Given the description of an element on the screen output the (x, y) to click on. 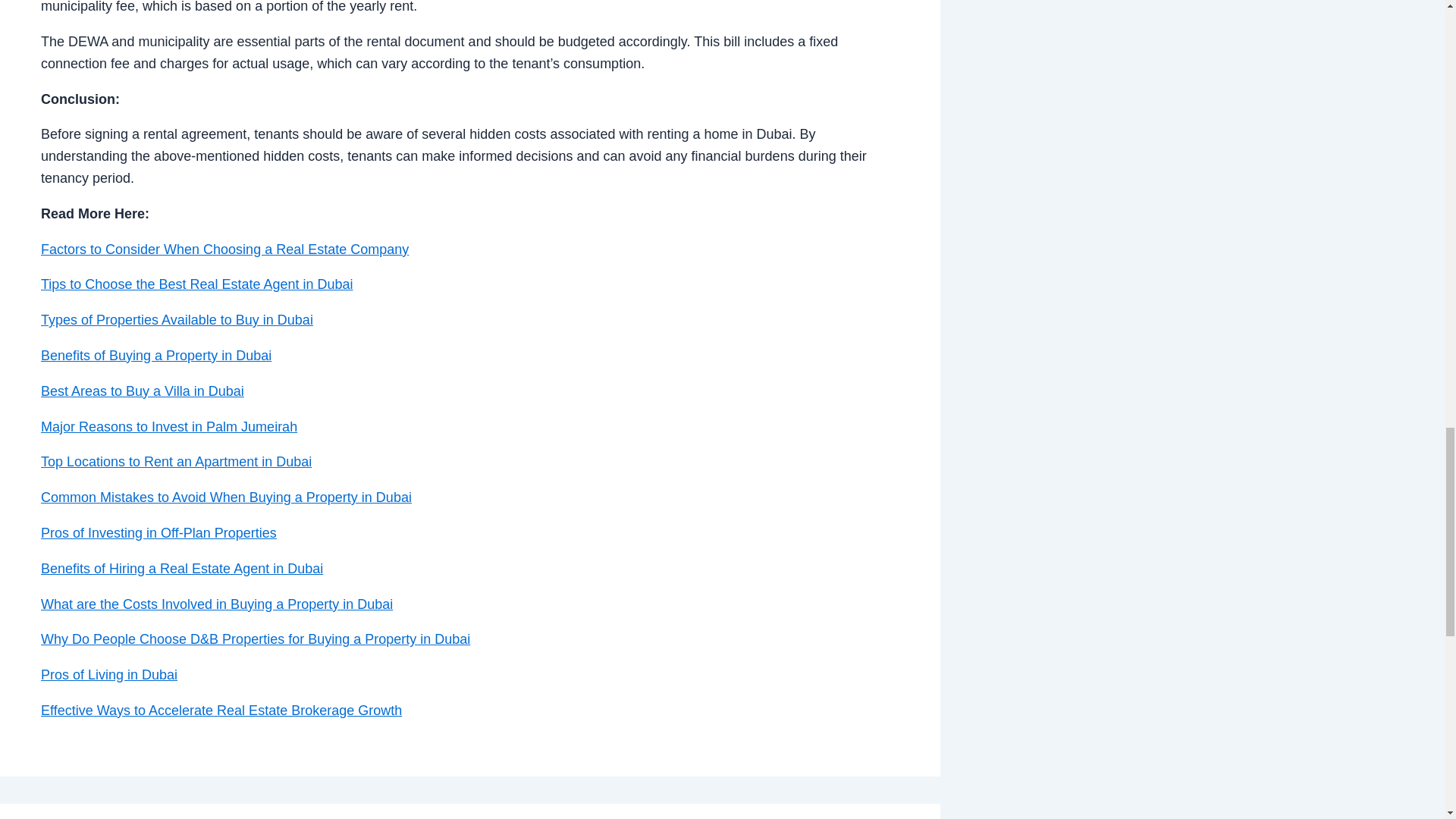
Benefits of Buying a Property in Dubai (155, 355)
Major Reasons to Invest in Palm Jumeirah (168, 426)
Top Locations to Rent an Apartment in Dubai (175, 461)
Common Mistakes to Avoid When Buying a Property in Dubai (226, 497)
Best Areas to Buy a Villa in Dubai (142, 391)
Types of Properties Available to Buy in Dubai (176, 319)
Tips to Choose the Best Real Estate Agent in Dubai (196, 283)
Factors to Consider When Choosing a Real Estate Company (224, 249)
